Given the description of an element on the screen output the (x, y) to click on. 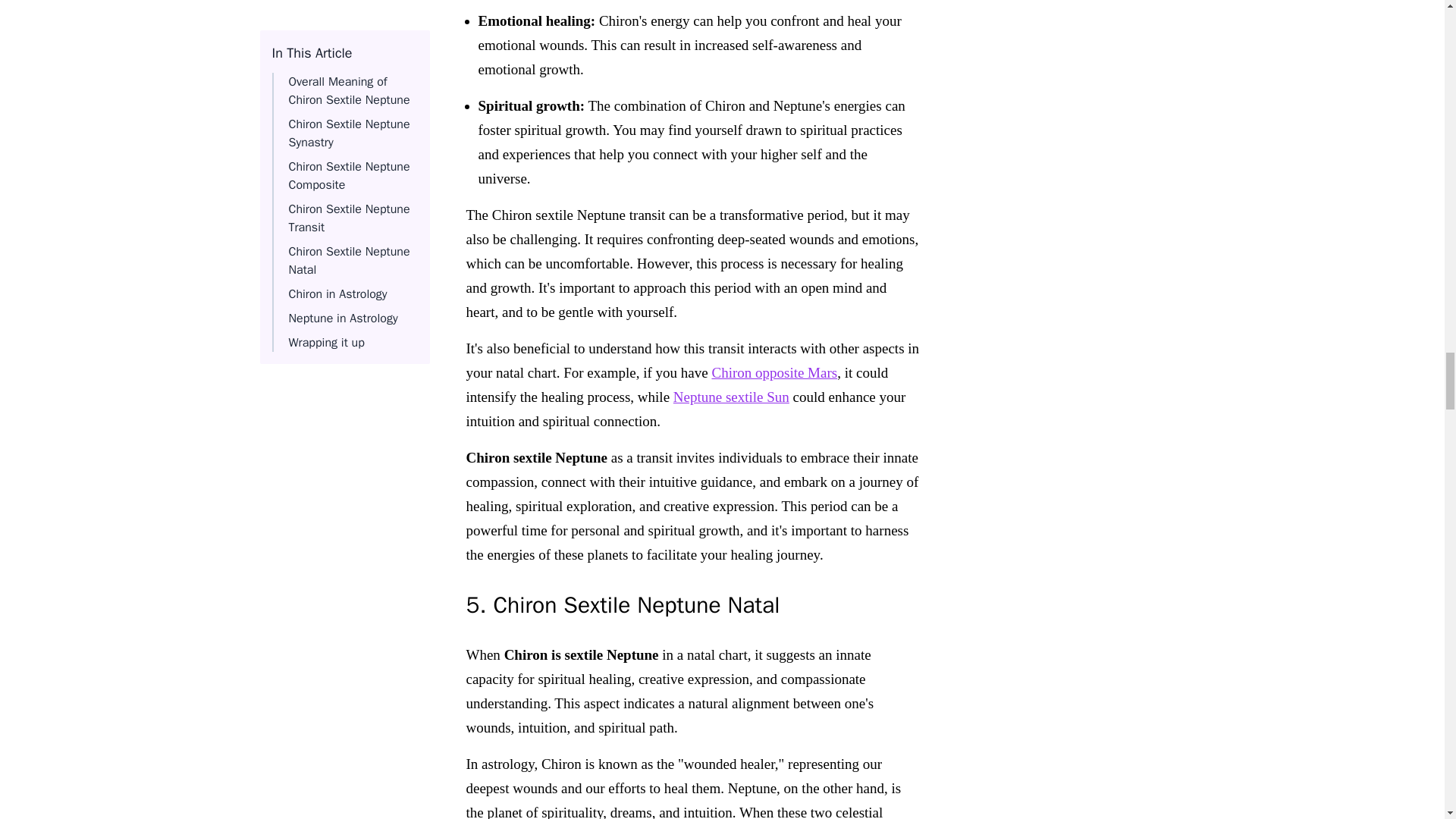
Chiron opposite Mars (774, 371)
Neptune sextile Sun (730, 396)
